Given the description of an element on the screen output the (x, y) to click on. 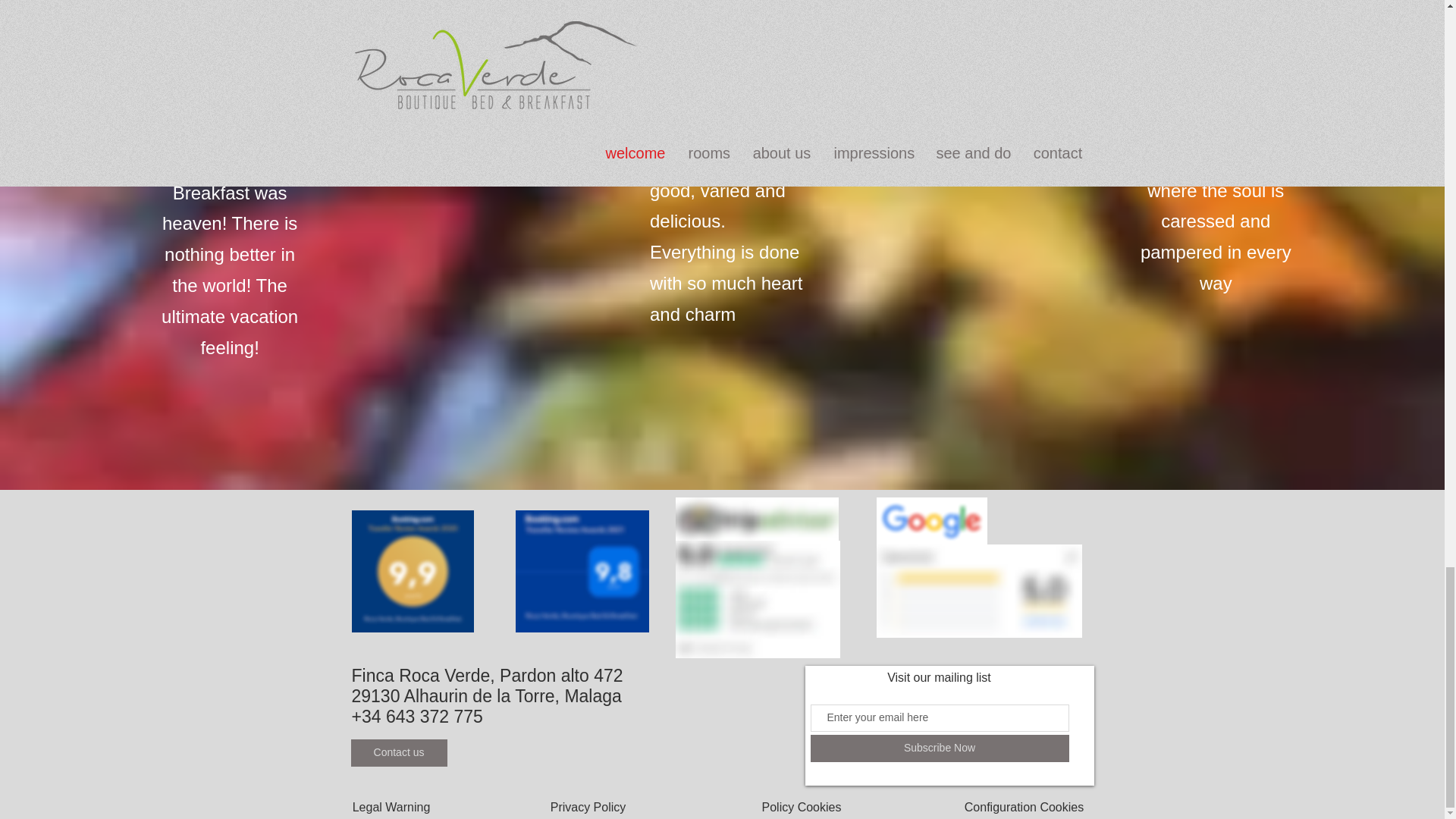
Legal Warning (390, 807)
Subscribe Now (938, 748)
Privacy Policy (587, 807)
Contact us (398, 752)
Policy Cookies (802, 807)
Configuration Cookies (1024, 807)
